Given the description of an element on the screen output the (x, y) to click on. 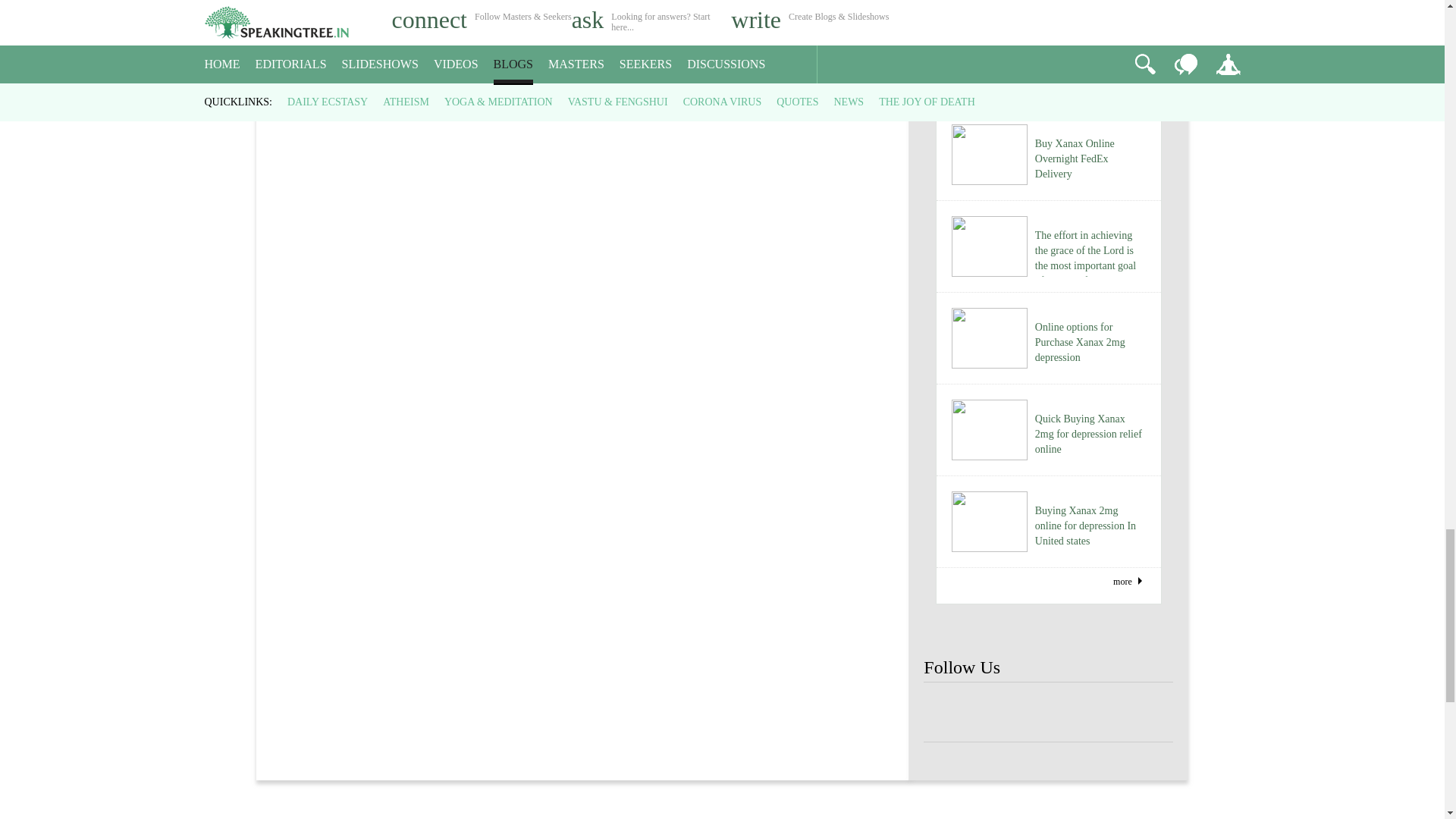
Speaking Tree FaceBook (1099, 712)
Speaking Tree FaceBook (1147, 712)
Speaking Tree FaceBook (1048, 712)
Speaking Tree FaceBook (998, 712)
Speaking Tree FaceBook (948, 712)
